Given the description of an element on the screen output the (x, y) to click on. 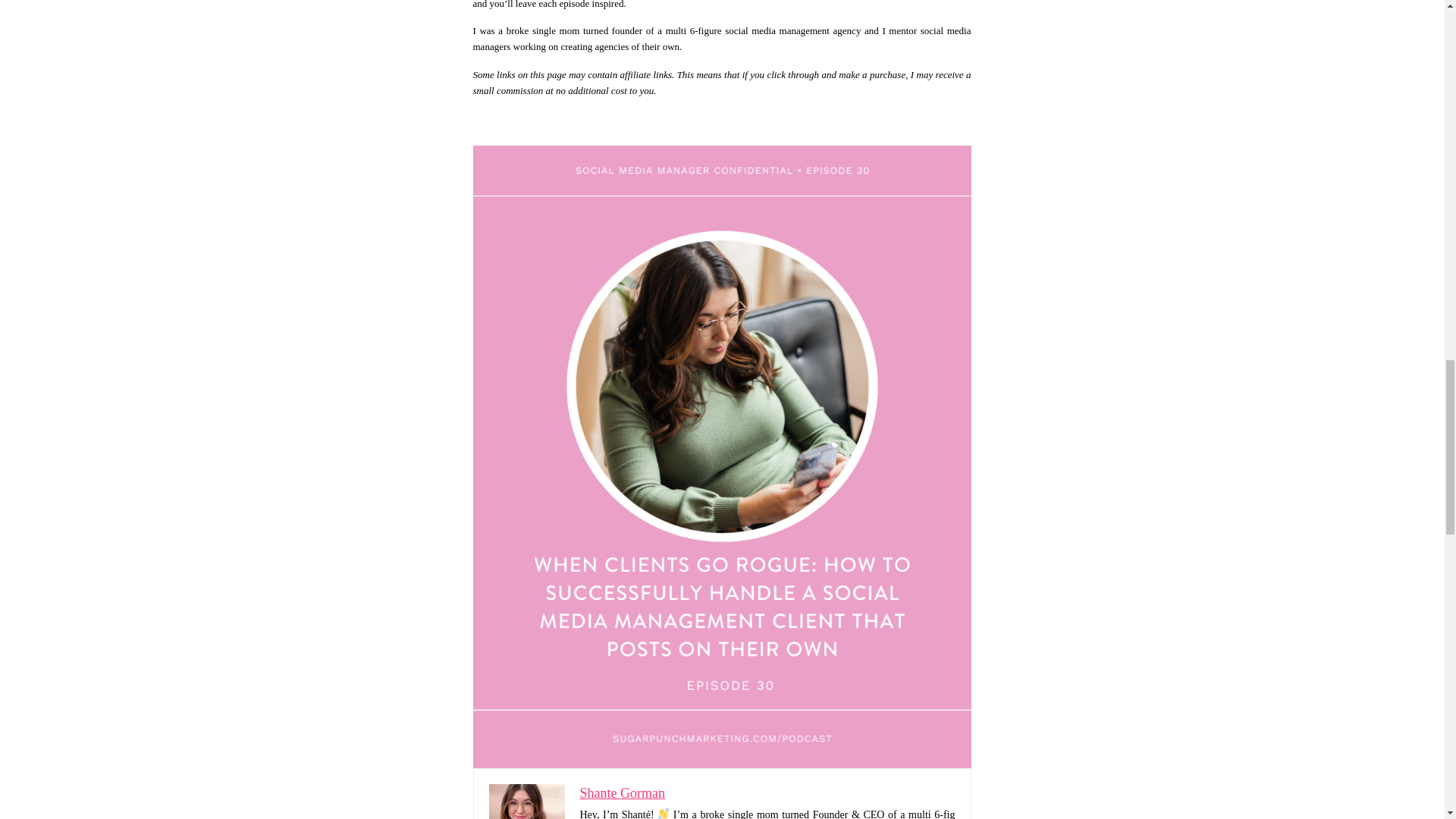
Shante Gorman (621, 792)
